Given the description of an element on the screen output the (x, y) to click on. 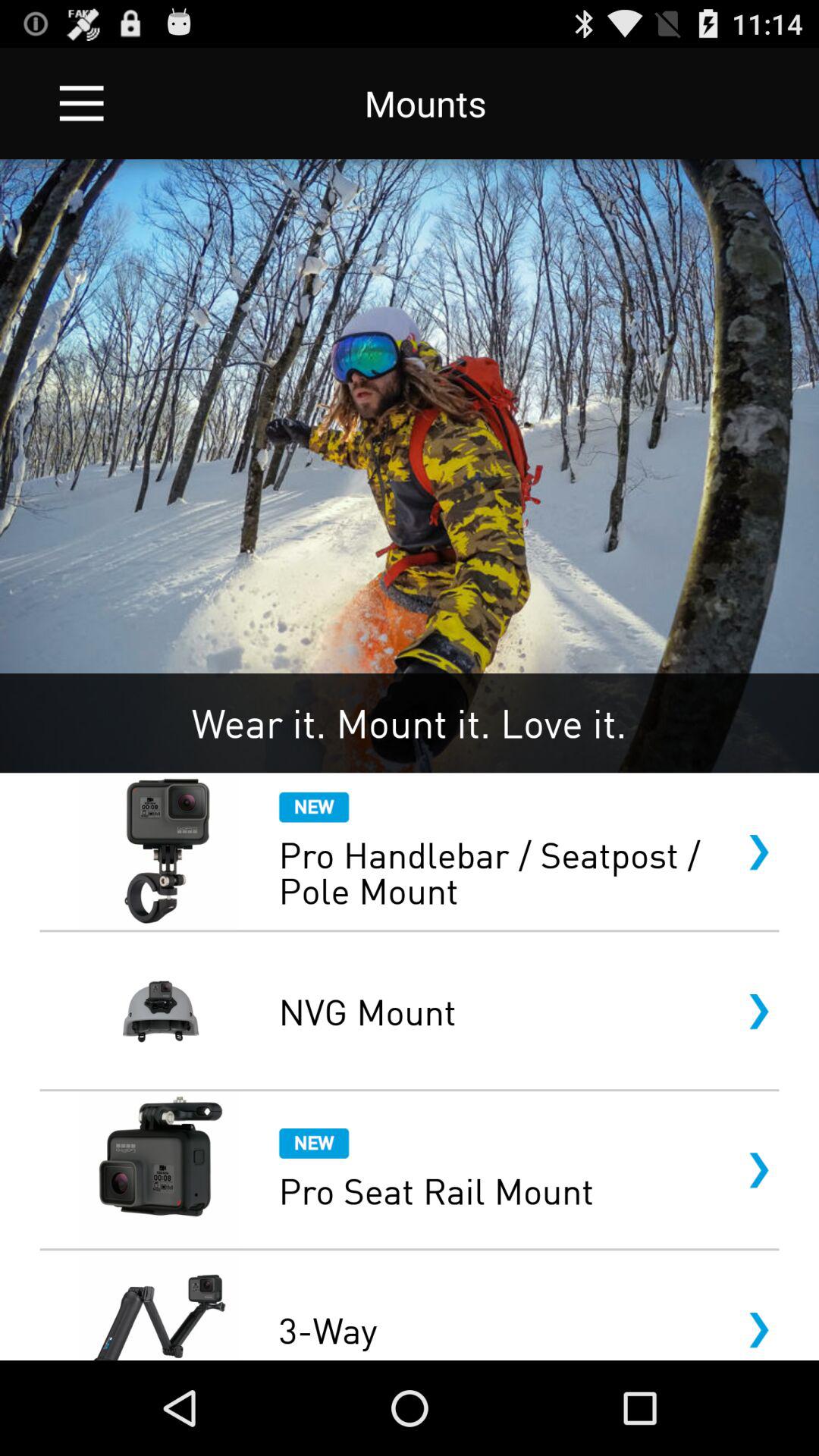
main menu (81, 102)
